Given the description of an element on the screen output the (x, y) to click on. 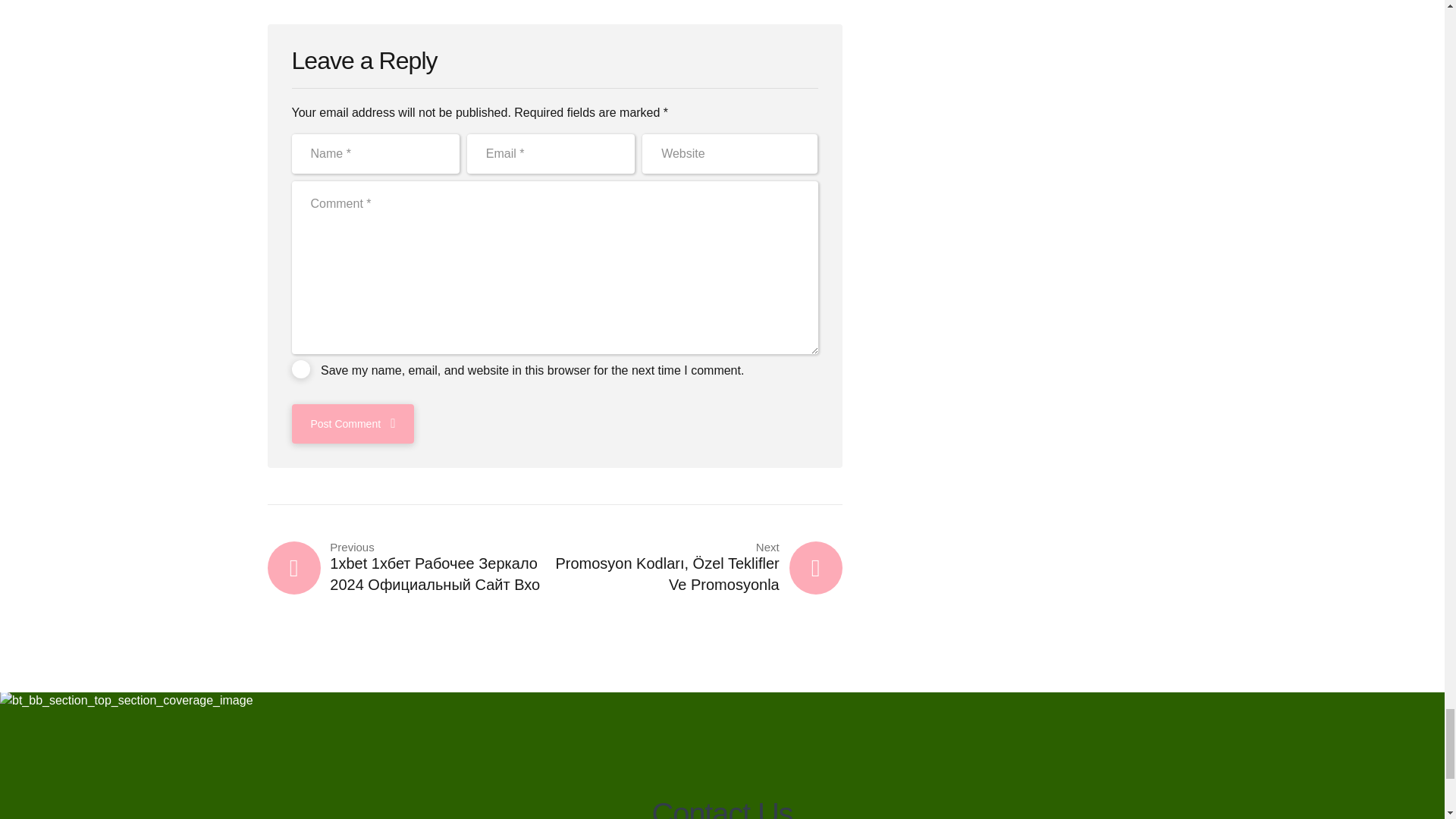
yes (299, 369)
